Given the description of an element on the screen output the (x, y) to click on. 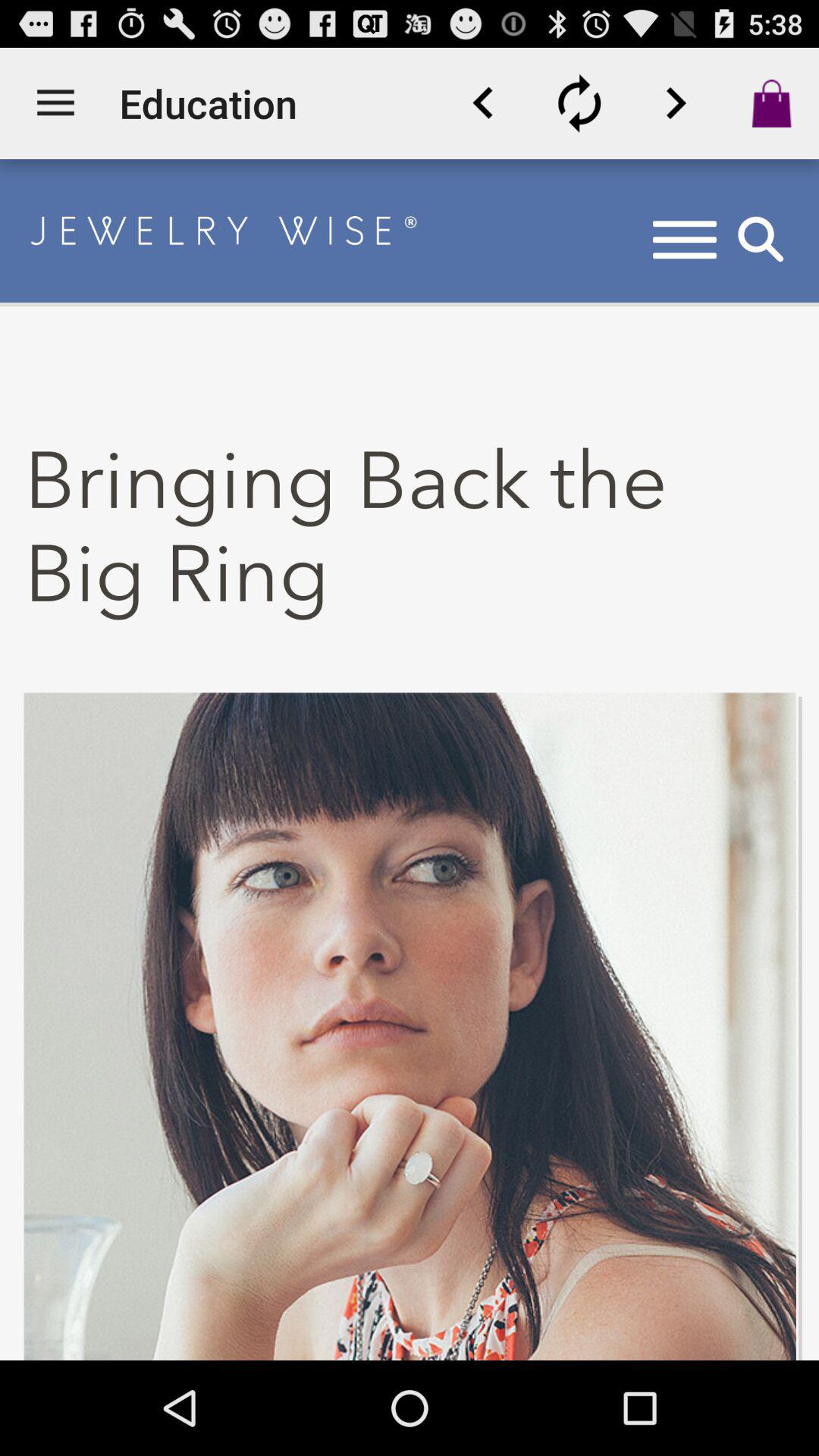
lest pega (675, 103)
